Given the description of an element on the screen output the (x, y) to click on. 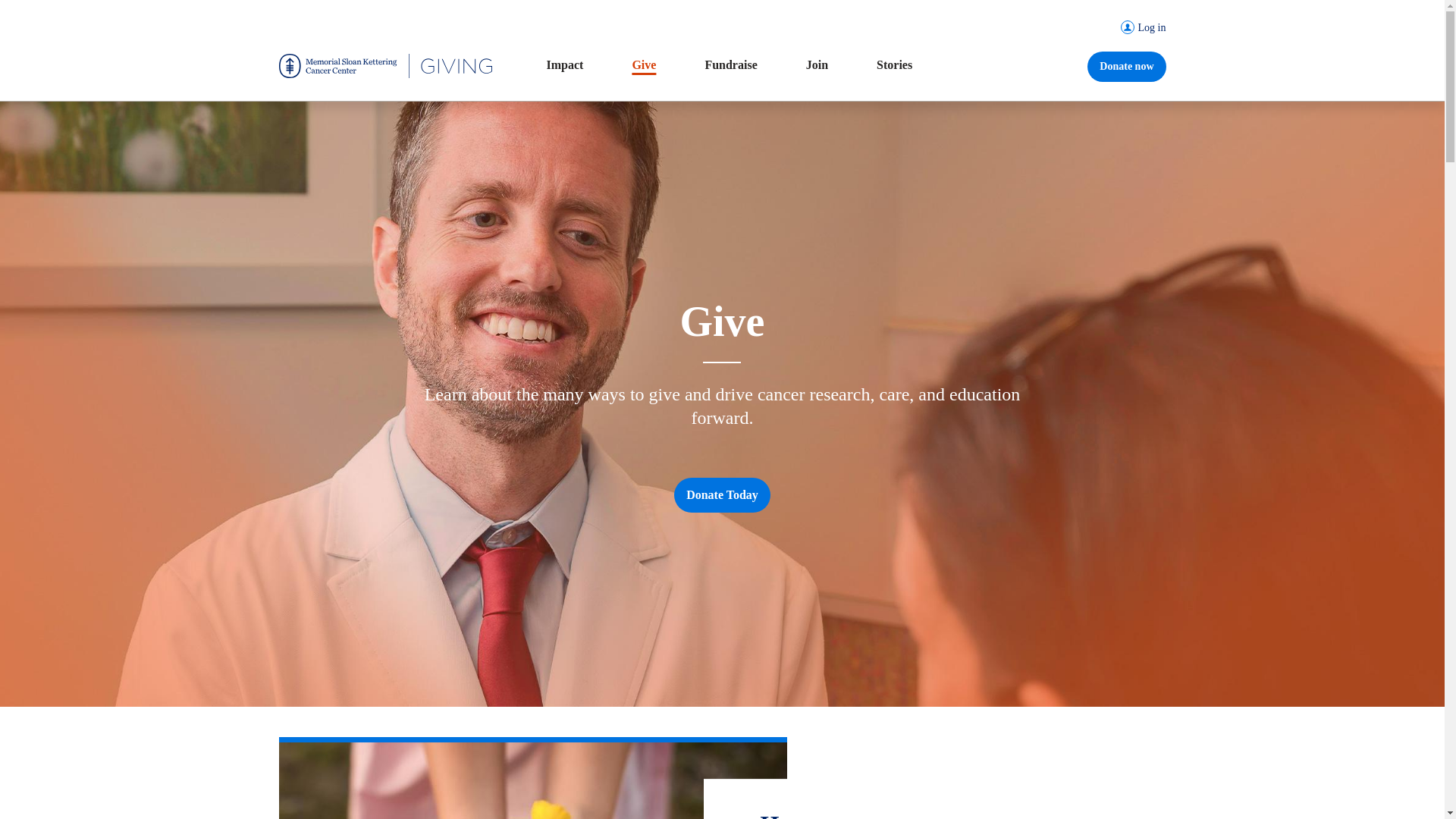
Donate Today (722, 494)
Log in (1120, 27)
Impact (564, 65)
Fundraise (730, 65)
Ways to support lifesaving treatment and research (730, 65)
Inspiring stories from our community (894, 65)
Give (643, 65)
Learn about exciting community events at MSK (817, 65)
Stories (894, 65)
Donations make a difference for people with cancer (643, 65)
Join (817, 65)
Donor support drives innovation (564, 65)
Donate now (1126, 66)
